Given the description of an element on the screen output the (x, y) to click on. 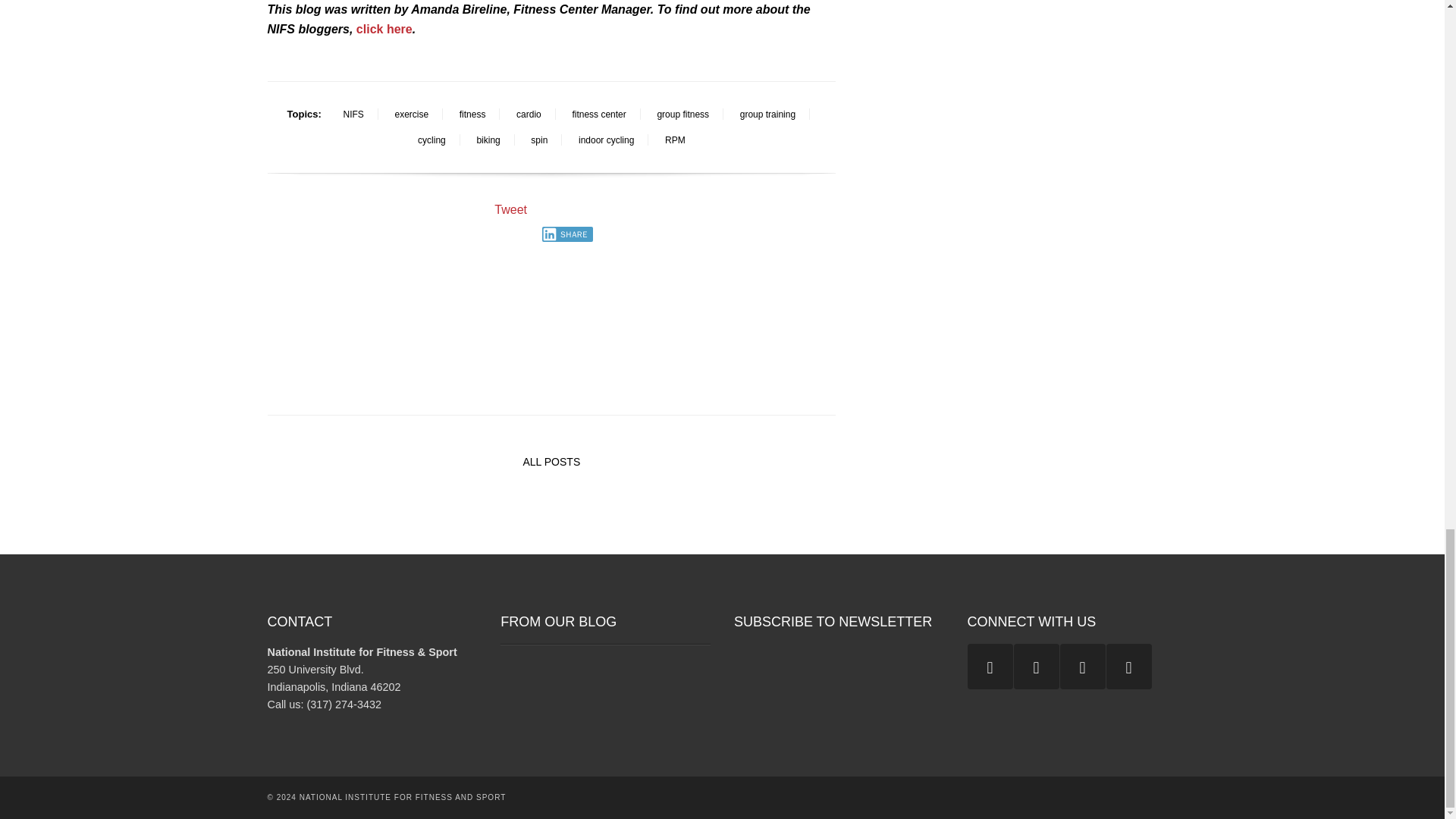
click here (384, 29)
Follow us on Facebook (1082, 666)
exercise (411, 114)
Follow us on Twitter (1128, 666)
fitness center (598, 114)
fitness (472, 114)
Follow us on YouTube (990, 666)
group fitness (682, 114)
cardio (528, 114)
NIFS (352, 114)
